Given the description of an element on the screen output the (x, y) to click on. 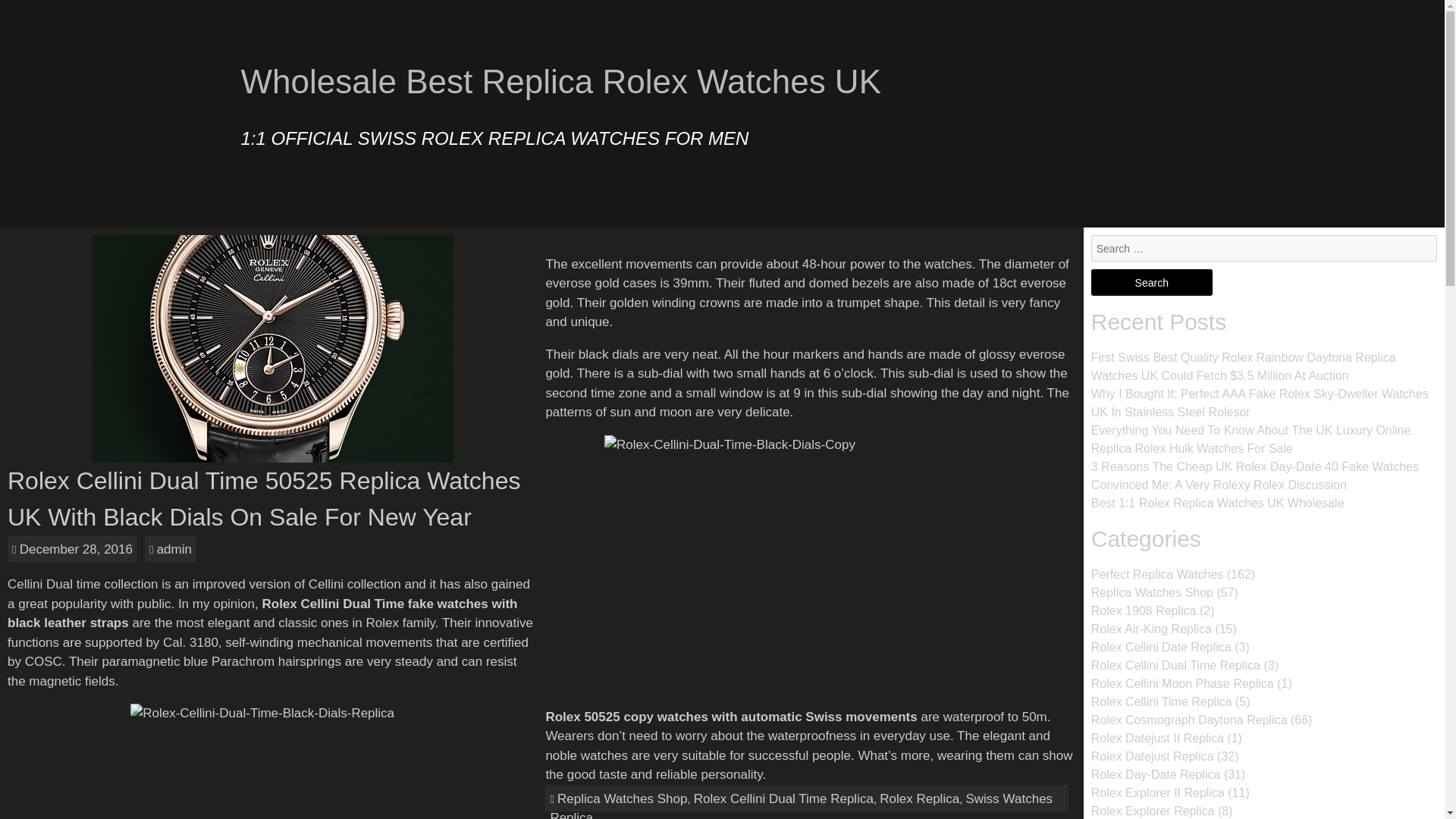
Swiss Watches Replica (801, 805)
Search (1151, 282)
Rolex Explorer Replica (1152, 810)
Replica Watches Shop (1151, 592)
Rolex Cellini Dual Time Replica (1175, 665)
Rolex Cellini Moon Phase Replica (1182, 683)
Rolex Day-Date Replica (1155, 774)
Perfect Replica Watches (1157, 574)
